Given the description of an element on the screen output the (x, y) to click on. 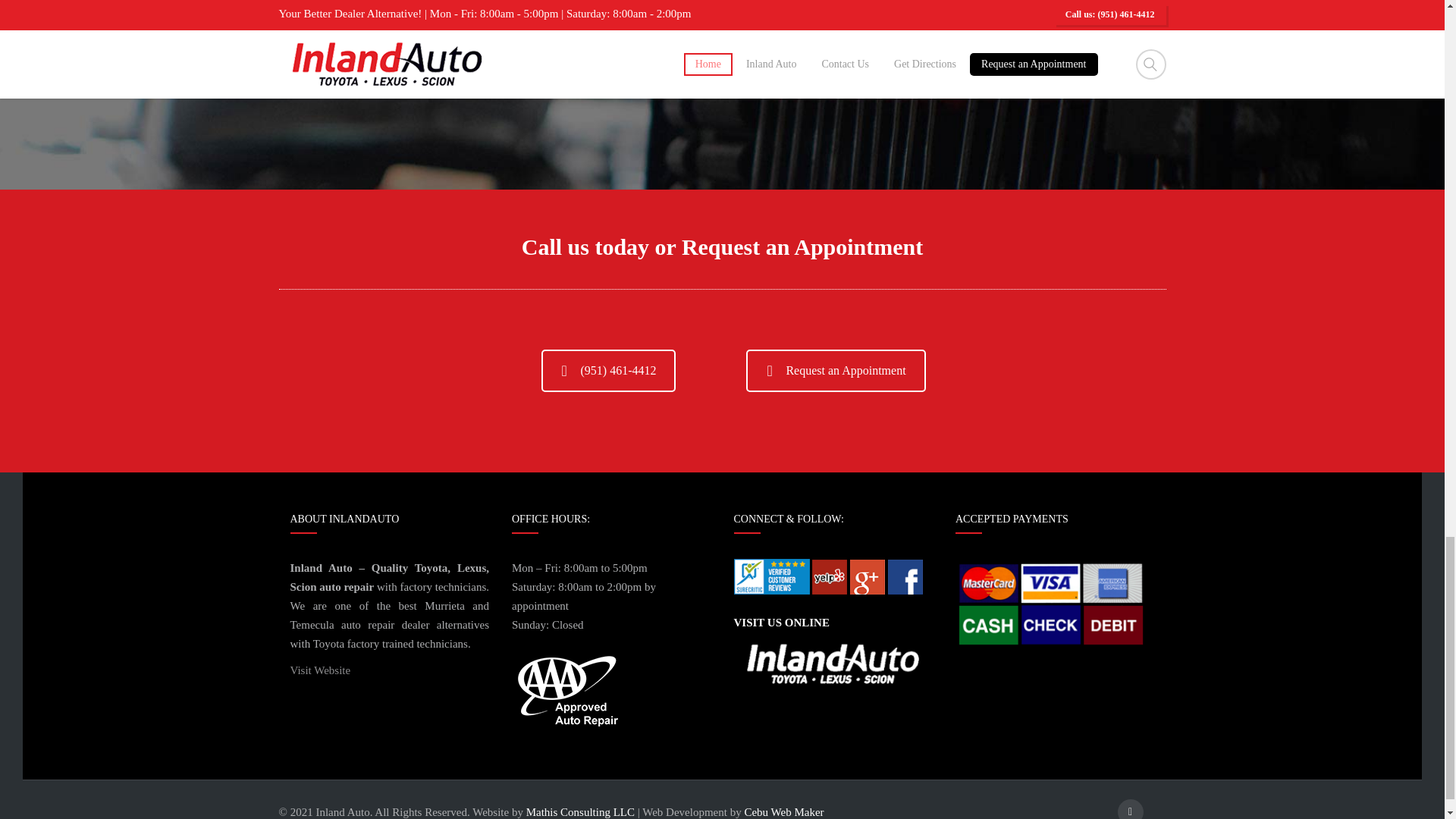
Request an Appointment (834, 370)
Request an Appointment (834, 370)
Mathis Consulting LLC (579, 811)
facebook (1130, 809)
Visit Website (319, 670)
Call us (609, 370)
Cebu Web Maker (784, 811)
